Given the description of an element on the screen output the (x, y) to click on. 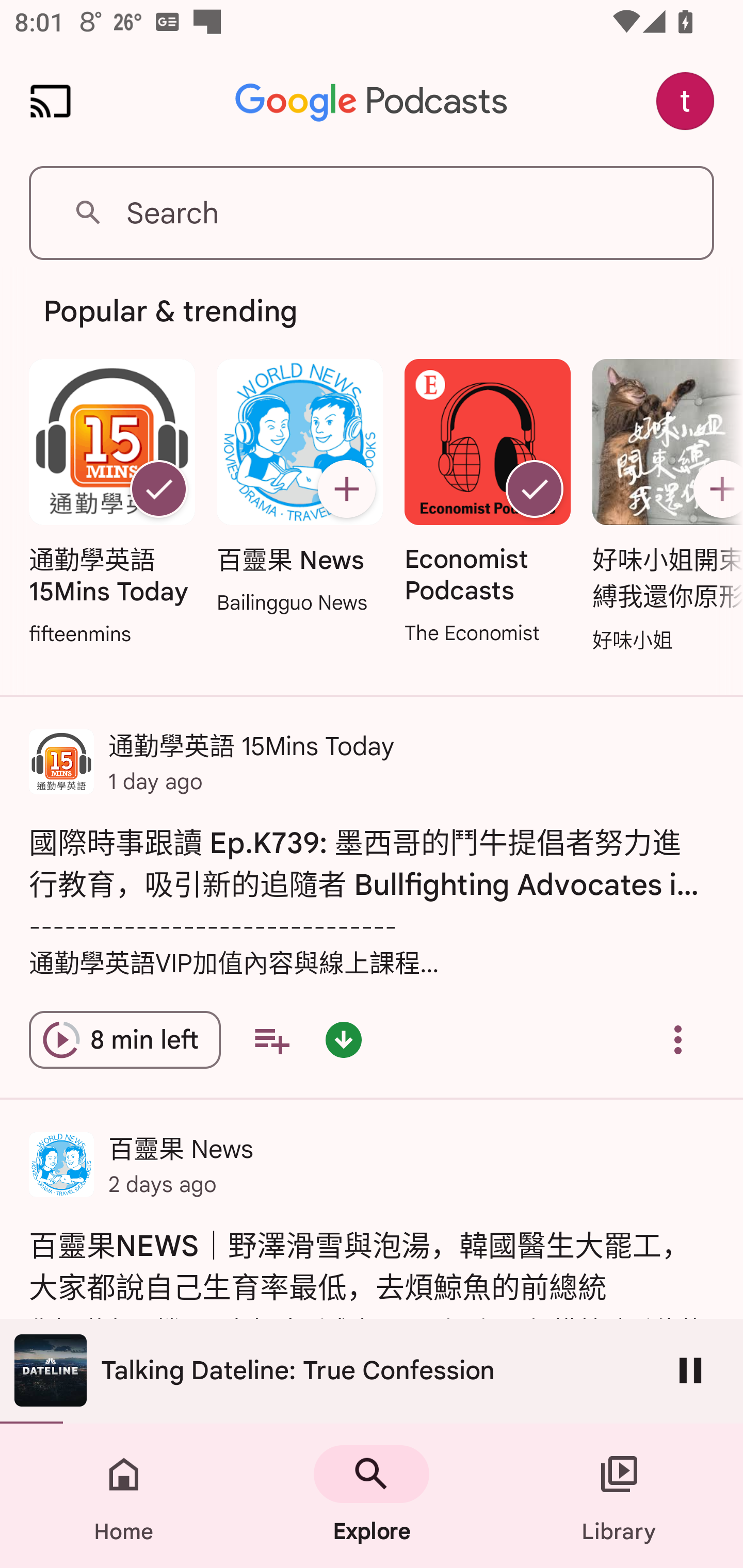
Cast. Disconnected (50, 101)
Search (371, 212)
百靈果 News Subscribe 百靈果 News Bailingguo News (299, 488)
好味小姐開束縛我還你原形 Subscribe 好味小姐開束縛我還你原形 好味小姐 (662, 507)
Unsubscribe (158, 489)
Subscribe (346, 489)
Unsubscribe (534, 489)
Subscribe (714, 489)
Add to your queue (271, 1040)
Episode downloaded - double tap for options (343, 1040)
Overflow menu (677, 1040)
Pause (690, 1370)
Home (123, 1495)
Library (619, 1495)
